Given the description of an element on the screen output the (x, y) to click on. 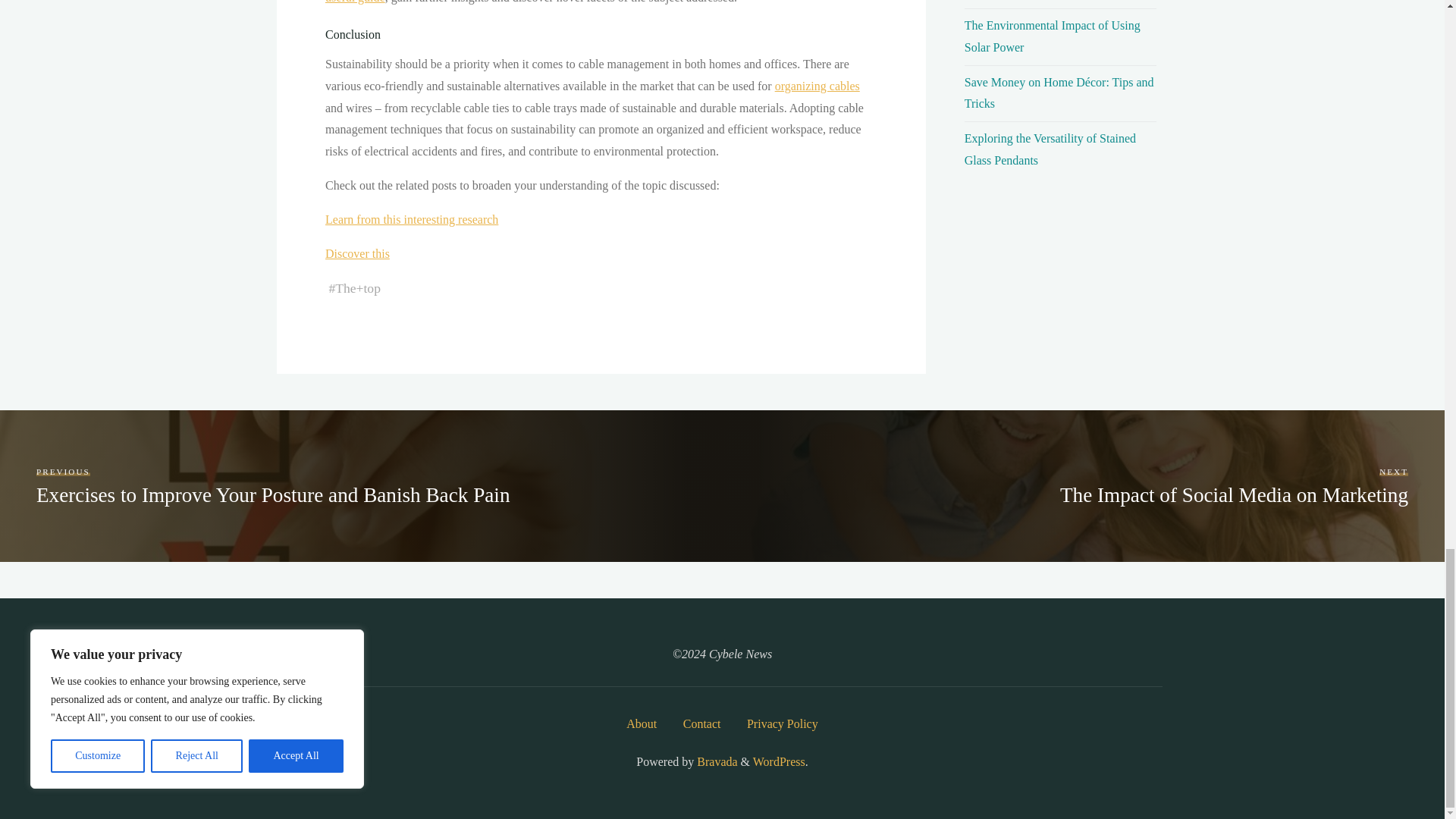
Learn from this interesting research (410, 219)
organizing cables (816, 85)
Semantic Personal Publishing Platform (778, 761)
Discover this (356, 253)
Bravada WordPress Theme by Cryout Creations (715, 761)
